Given the description of an element on the screen output the (x, y) to click on. 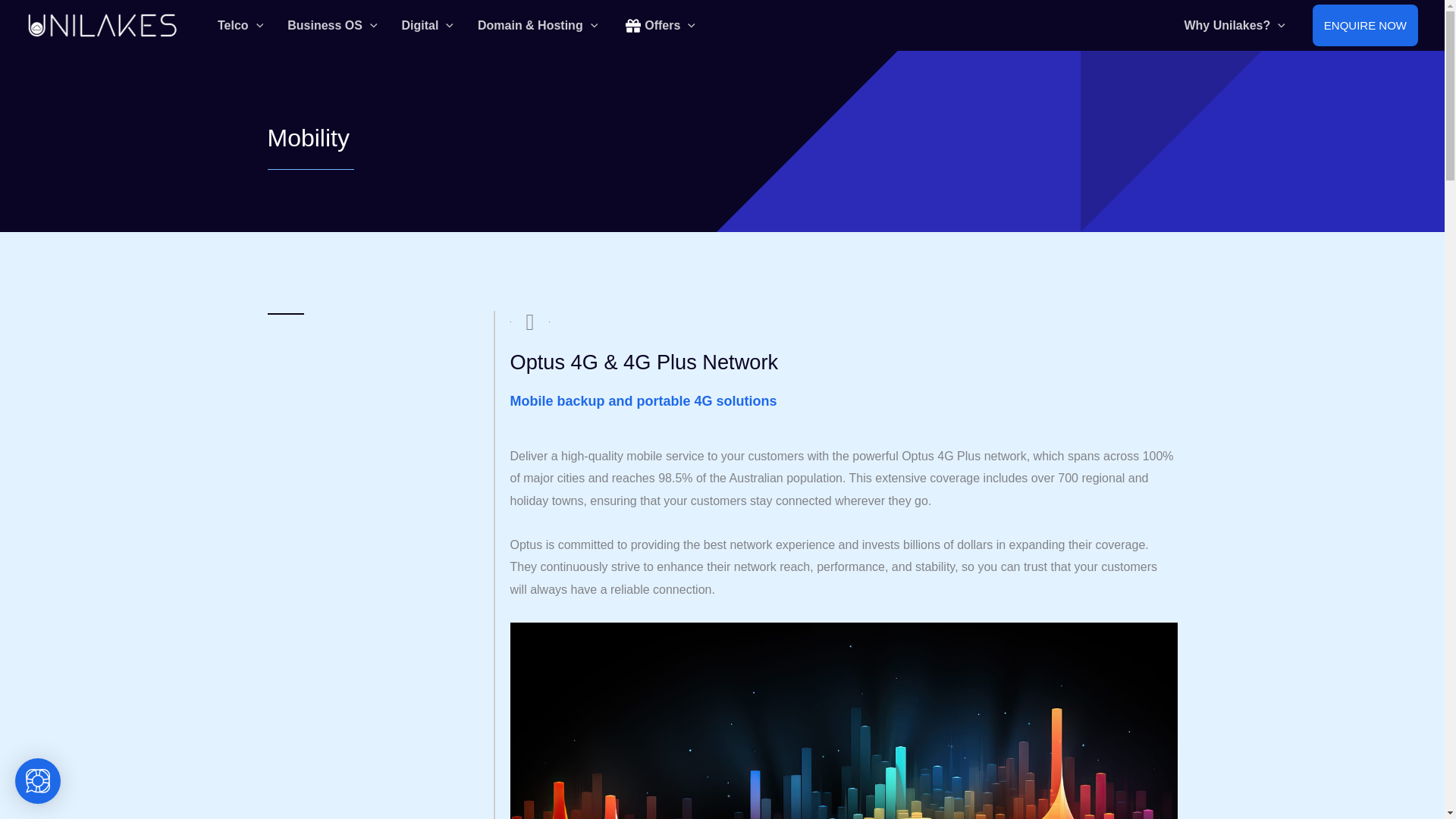
Business OS (331, 24)
Telco (240, 24)
